Given the description of an element on the screen output the (x, y) to click on. 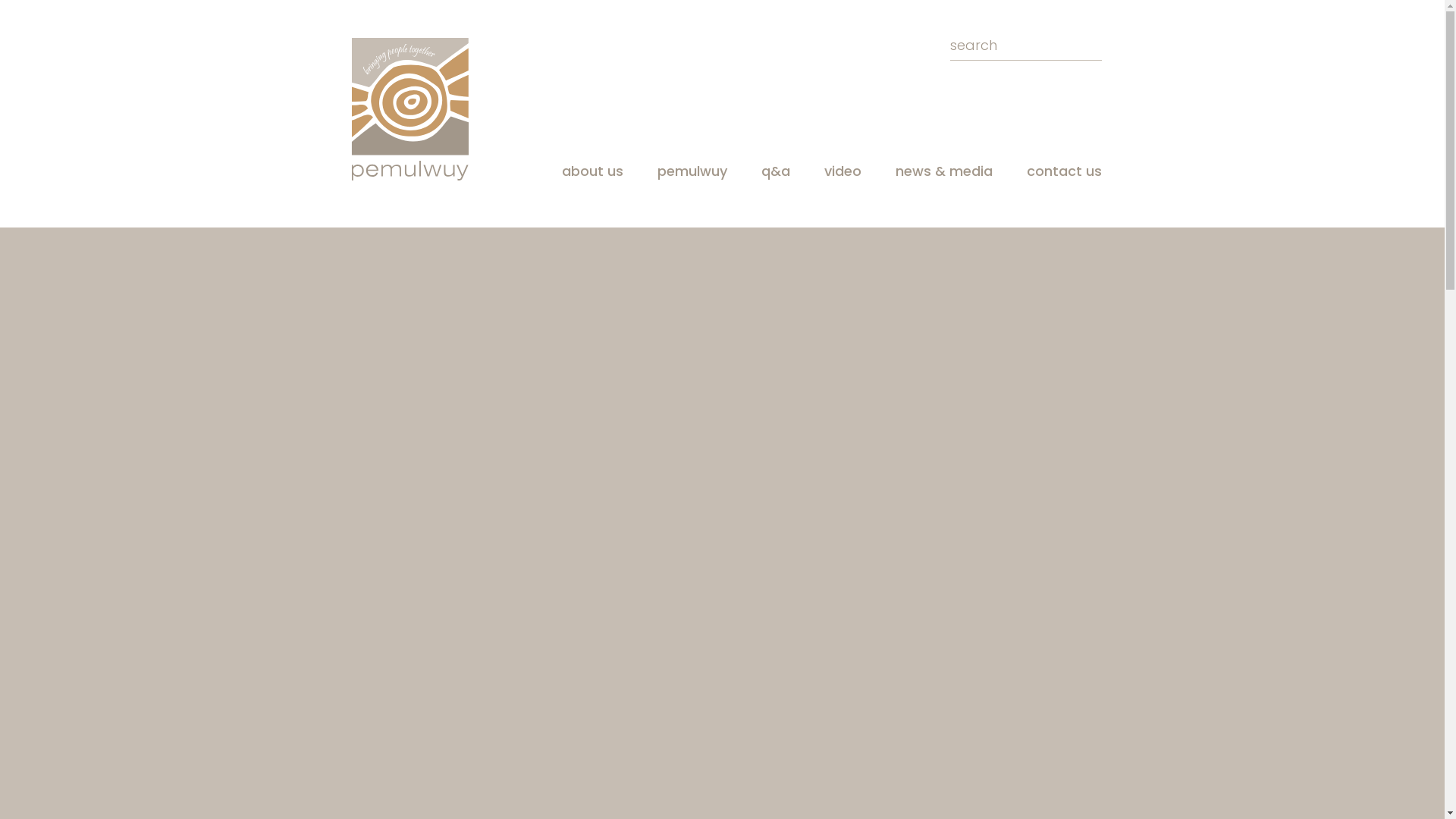
video Element type: text (841, 171)
about us Element type: text (591, 171)
Search Element type: text (75, 15)
news & media Element type: text (943, 171)
q&a Element type: text (775, 171)
contact us Element type: text (1064, 171)
pemulwuy Element type: text (691, 171)
